Given the description of an element on the screen output the (x, y) to click on. 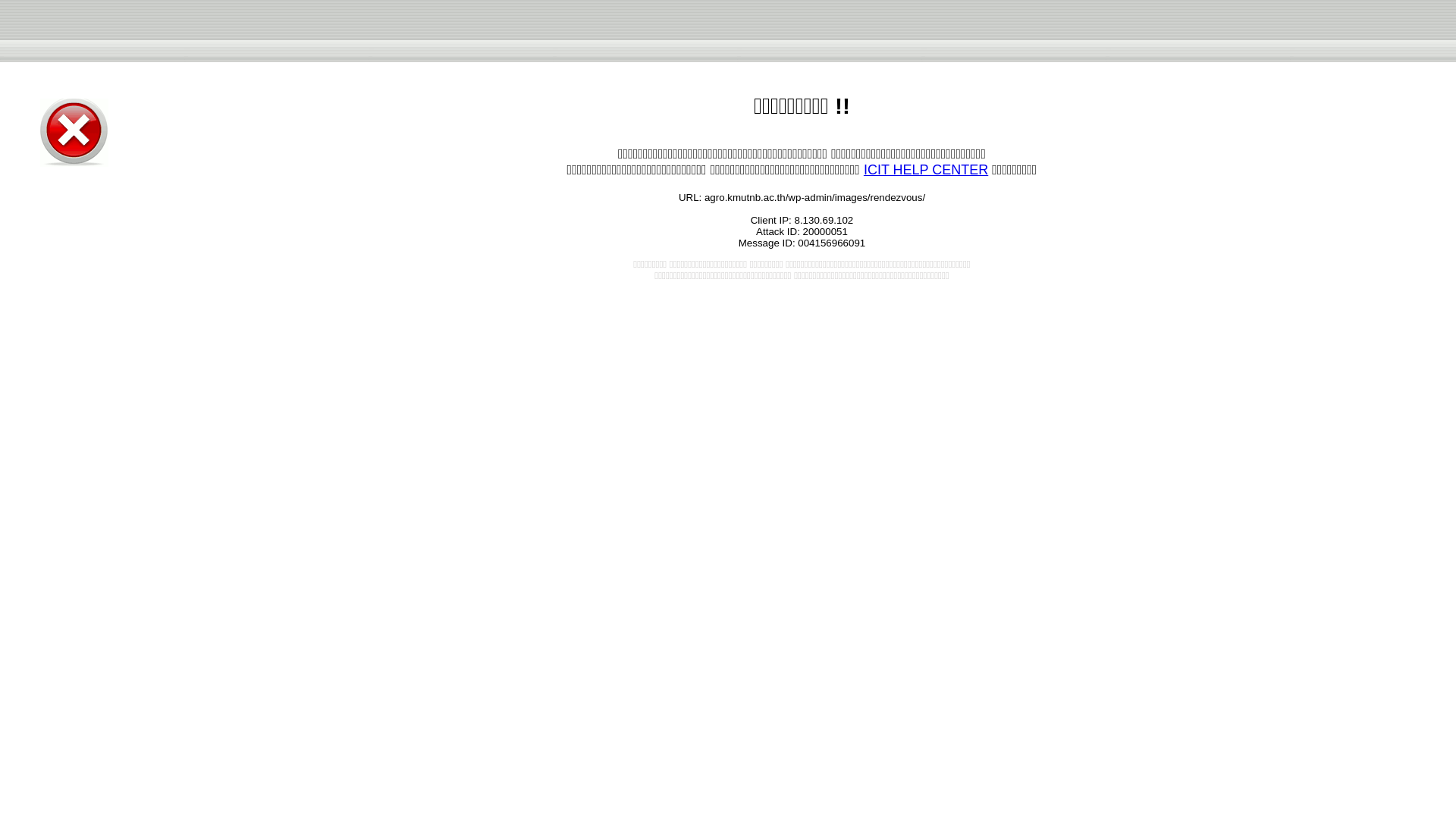
ICIT HELP CENTER (925, 169)
